Given the description of an element on the screen output the (x, y) to click on. 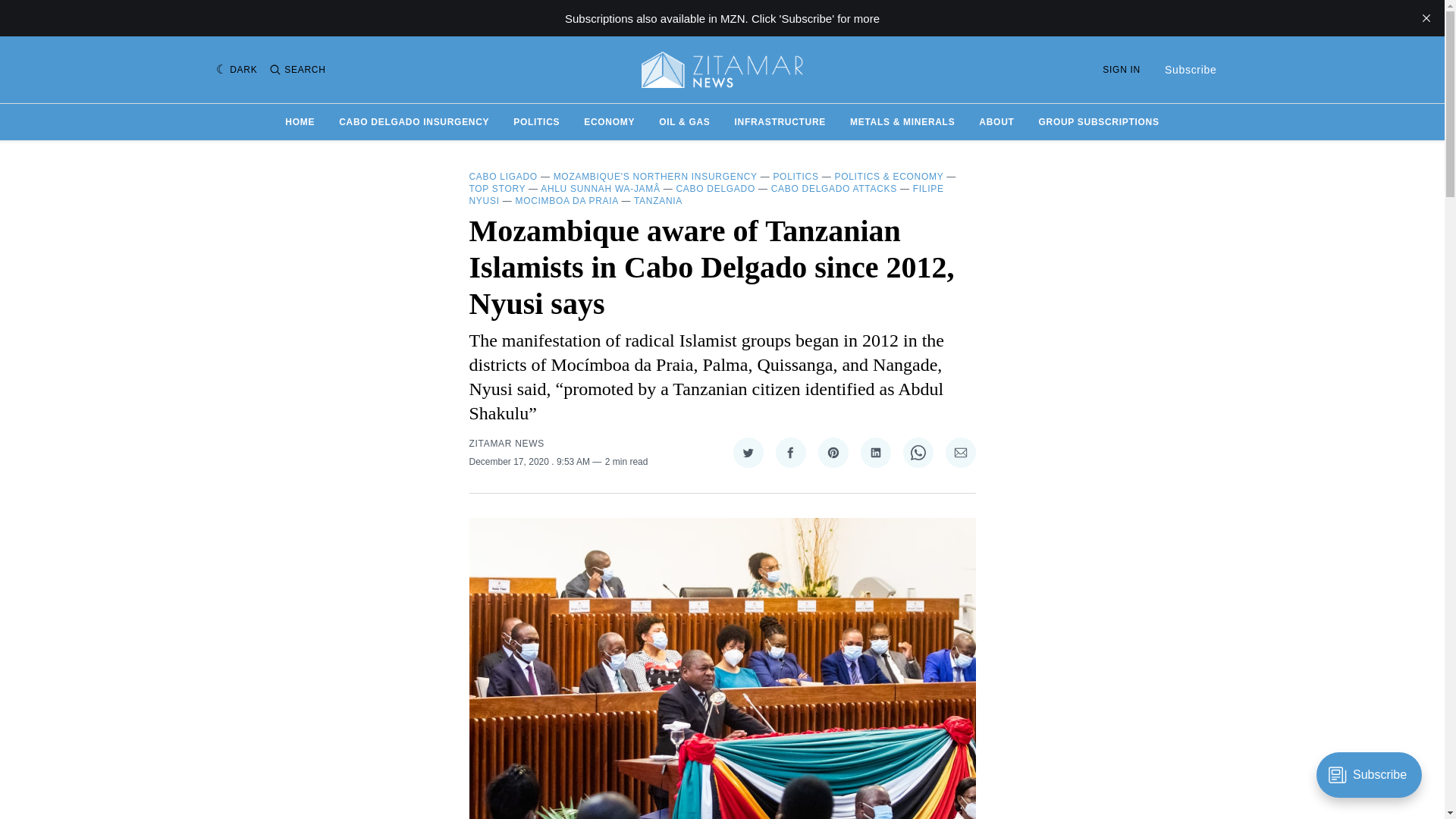
SEARCH (296, 69)
GROUP SUBSCRIPTIONS (1098, 121)
TANZANIA (657, 200)
TOP STORY (496, 188)
CABO DELGADO INSURGENCY (414, 121)
Share on Facebook (789, 452)
HOME (299, 121)
MOCIMBOA DA PRAIA (566, 200)
CABO DELGADO (716, 188)
Share via Email (959, 452)
ABOUT (995, 121)
Share on Pinterest (831, 452)
INFRASTRUCTURE (780, 121)
FILIPE NYUSI (705, 194)
POLITICS (536, 121)
